Given the description of an element on the screen output the (x, y) to click on. 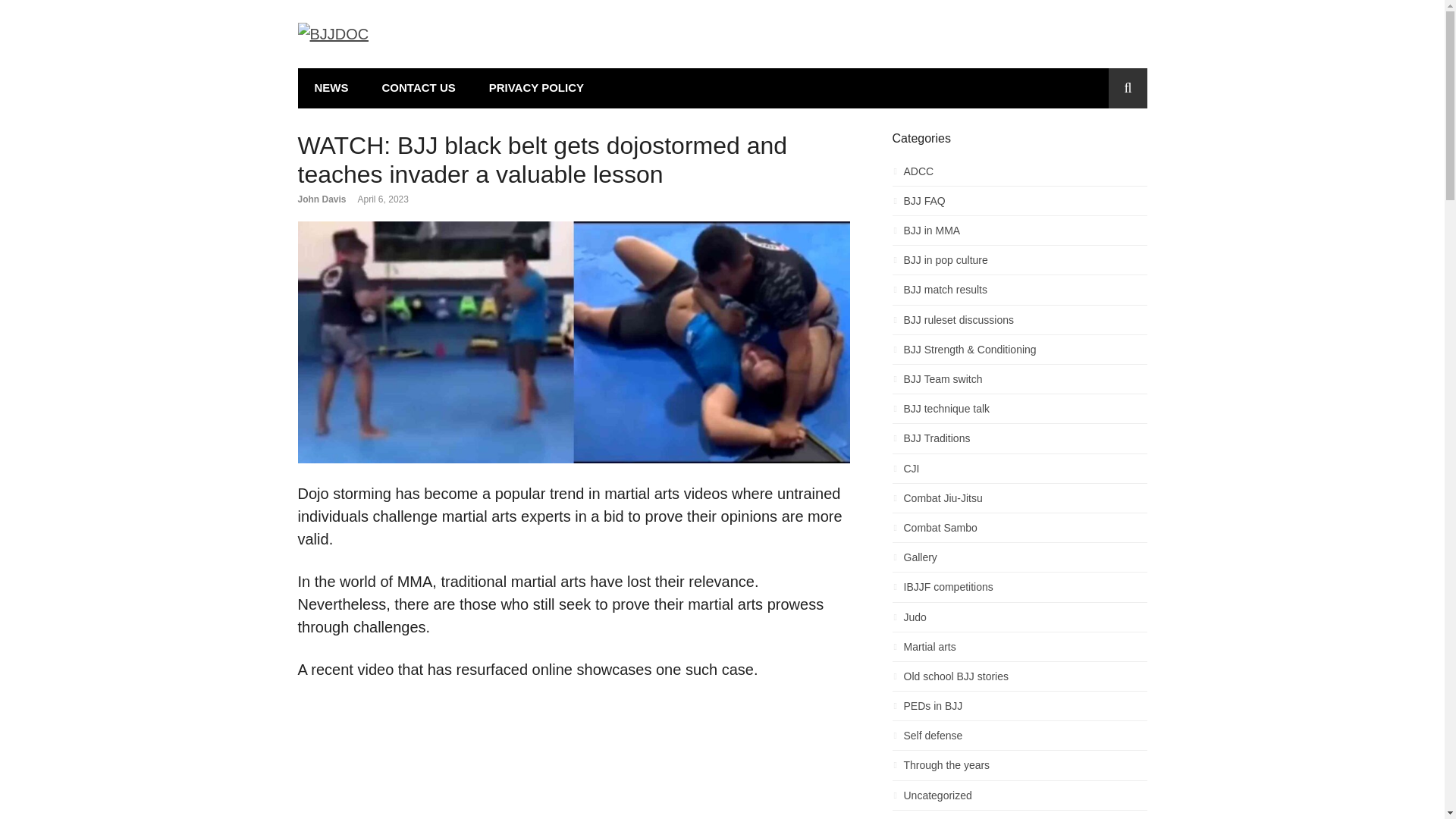
John Davis (321, 199)
PRIVACY POLICY (535, 87)
CONTACT US (418, 87)
NEWS (331, 87)
